Given the description of an element on the screen output the (x, y) to click on. 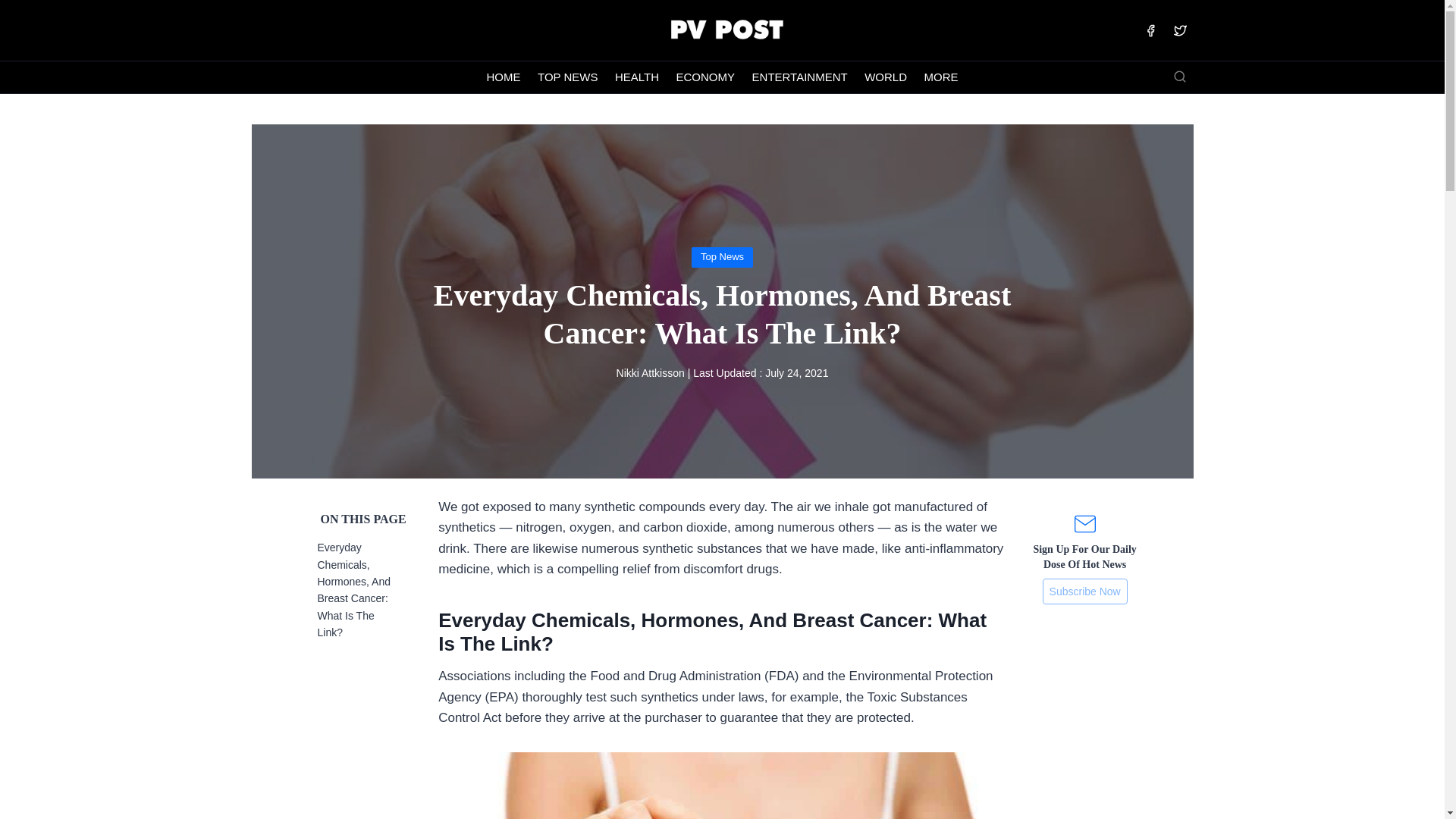
MORE (940, 77)
ENTERTAINMENT (799, 77)
ECONOMY (704, 77)
Subscribe Now (1084, 591)
WORLD (885, 77)
HOME (503, 77)
HEALTH (637, 77)
Top News (722, 256)
TOP NEWS (568, 77)
